Given the description of an element on the screen output the (x, y) to click on. 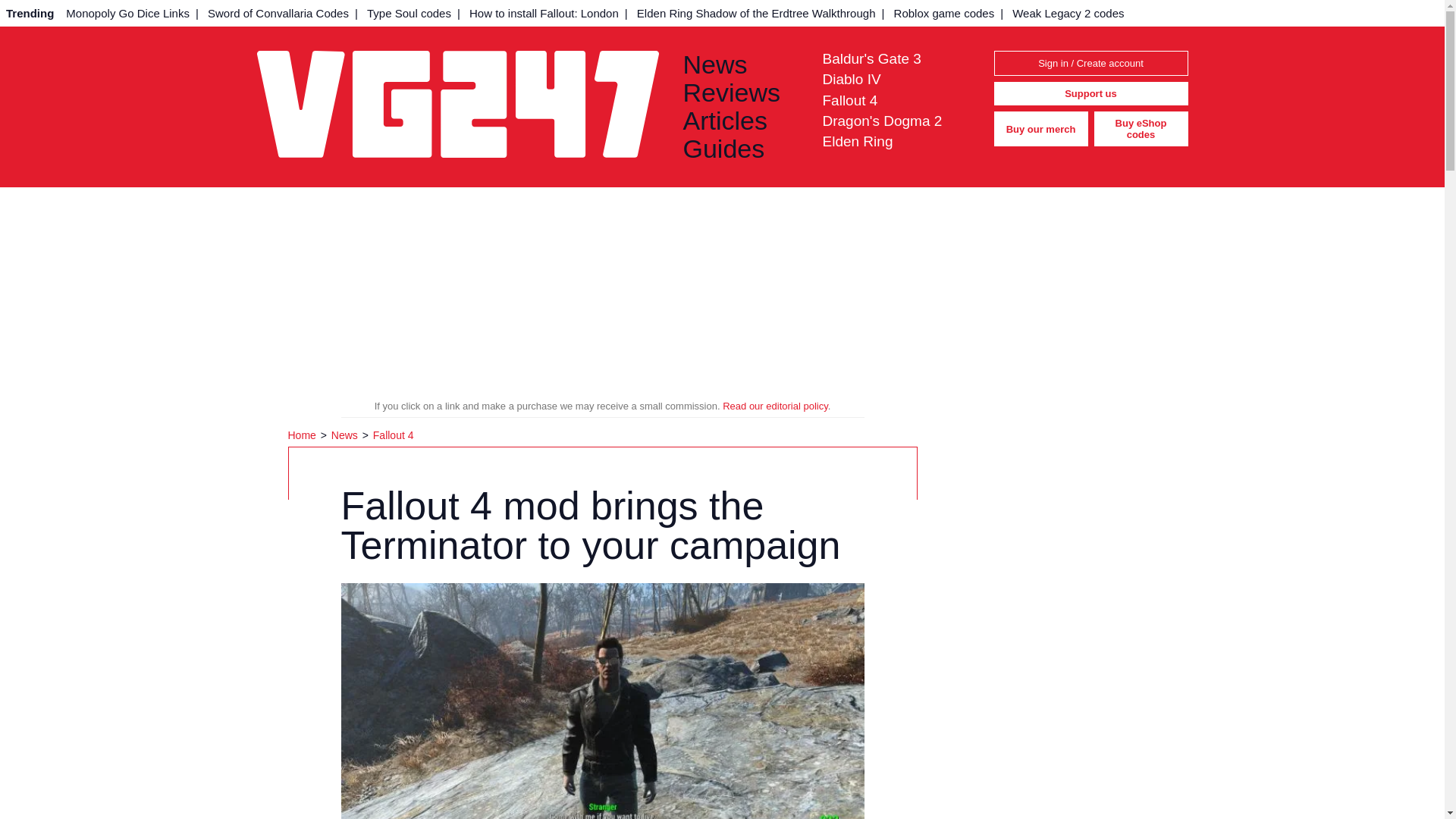
News (739, 64)
Baldur's Gate 3 (871, 58)
Diablo IV (851, 78)
Baldur's Gate 3 (871, 58)
Fallout 4 (392, 435)
News (346, 435)
Elden Ring Shadow of the Erdtree Walkthrough (756, 13)
Type Soul codes (409, 13)
Buy our merch (1039, 128)
Elden Ring (857, 141)
Weak Legacy 2 codes (1067, 13)
Support us (1090, 93)
Roblox game codes (944, 13)
Weak Legacy 2 codes (1067, 13)
News (346, 435)
